Given the description of an element on the screen output the (x, y) to click on. 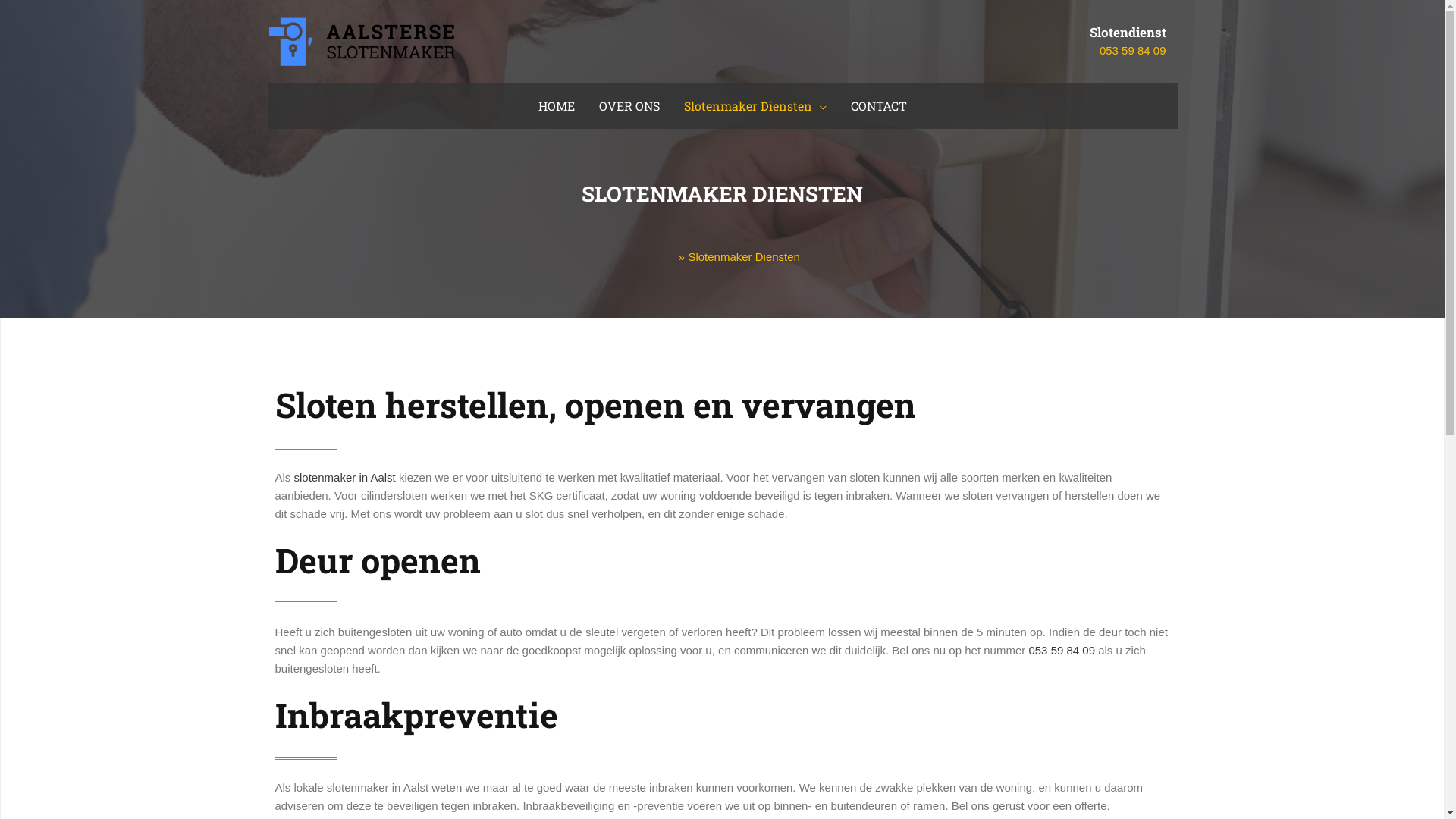
Home Element type: text (659, 256)
OVER ONS Element type: text (628, 105)
CONTACT Element type: text (878, 105)
Slotenmaker Diensten Element type: text (754, 105)
HOME Element type: text (556, 105)
053 59 84 09 Element type: text (1061, 649)
slotenmaker in Aalst Element type: text (344, 476)
053 59 84 09 Element type: text (1132, 49)
